Given the description of an element on the screen output the (x, y) to click on. 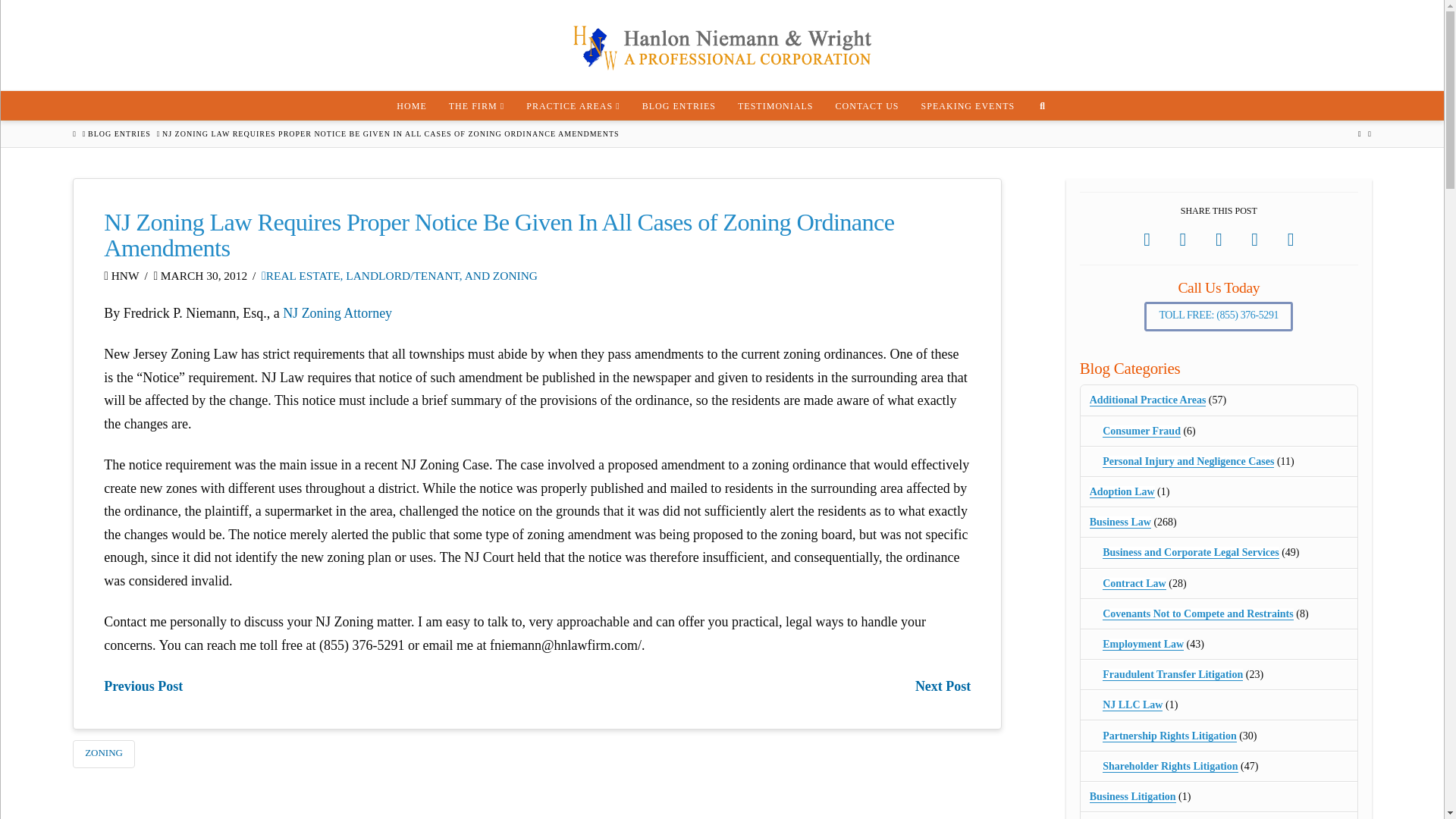
HOME (410, 104)
You Are Here (390, 133)
CONTACT US (867, 104)
BLOG ENTRIES (678, 104)
TESTIMONIALS (775, 104)
PRACTICE AREAS (572, 104)
THE FIRM (476, 104)
SPEAKING EVENTS (968, 104)
